Given the description of an element on the screen output the (x, y) to click on. 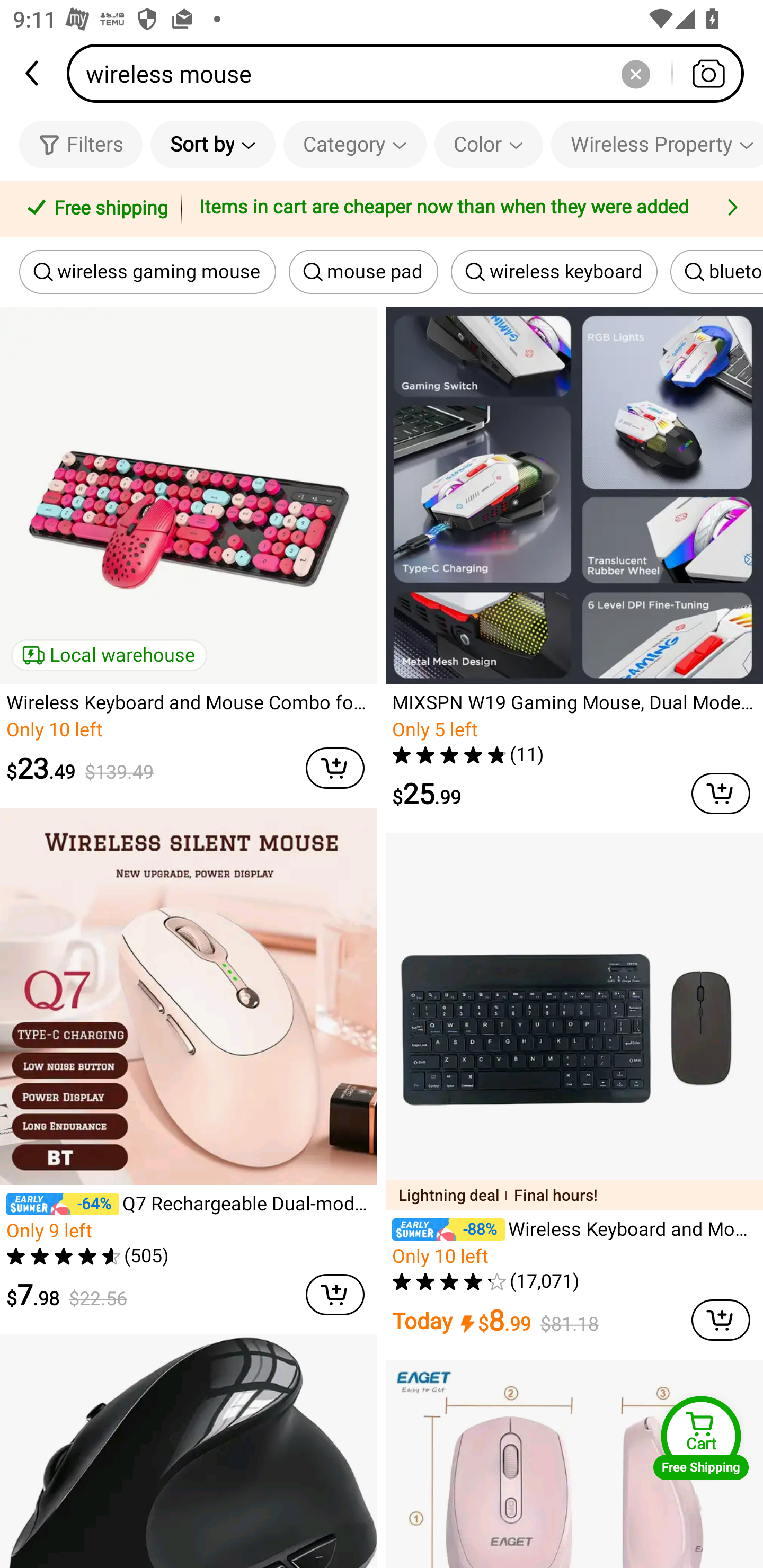
back (33, 72)
wireless mouse (411, 73)
Delete search history (635, 73)
Search by photo (708, 73)
Filters (80, 143)
Sort by (212, 143)
Category (354, 143)
Color (488, 143)
Wireless Property (656, 143)
 Free shipping (93, 208)
wireless gaming mouse (147, 271)
mouse pad (362, 271)
wireless keyboard (553, 271)
bluetooth mouse (716, 271)
cart delete (334, 767)
cart delete (720, 793)
cart delete (334, 1294)
cart delete (720, 1319)
Cart Free Shipping Cart (701, 1437)
